Given the description of an element on the screen output the (x, y) to click on. 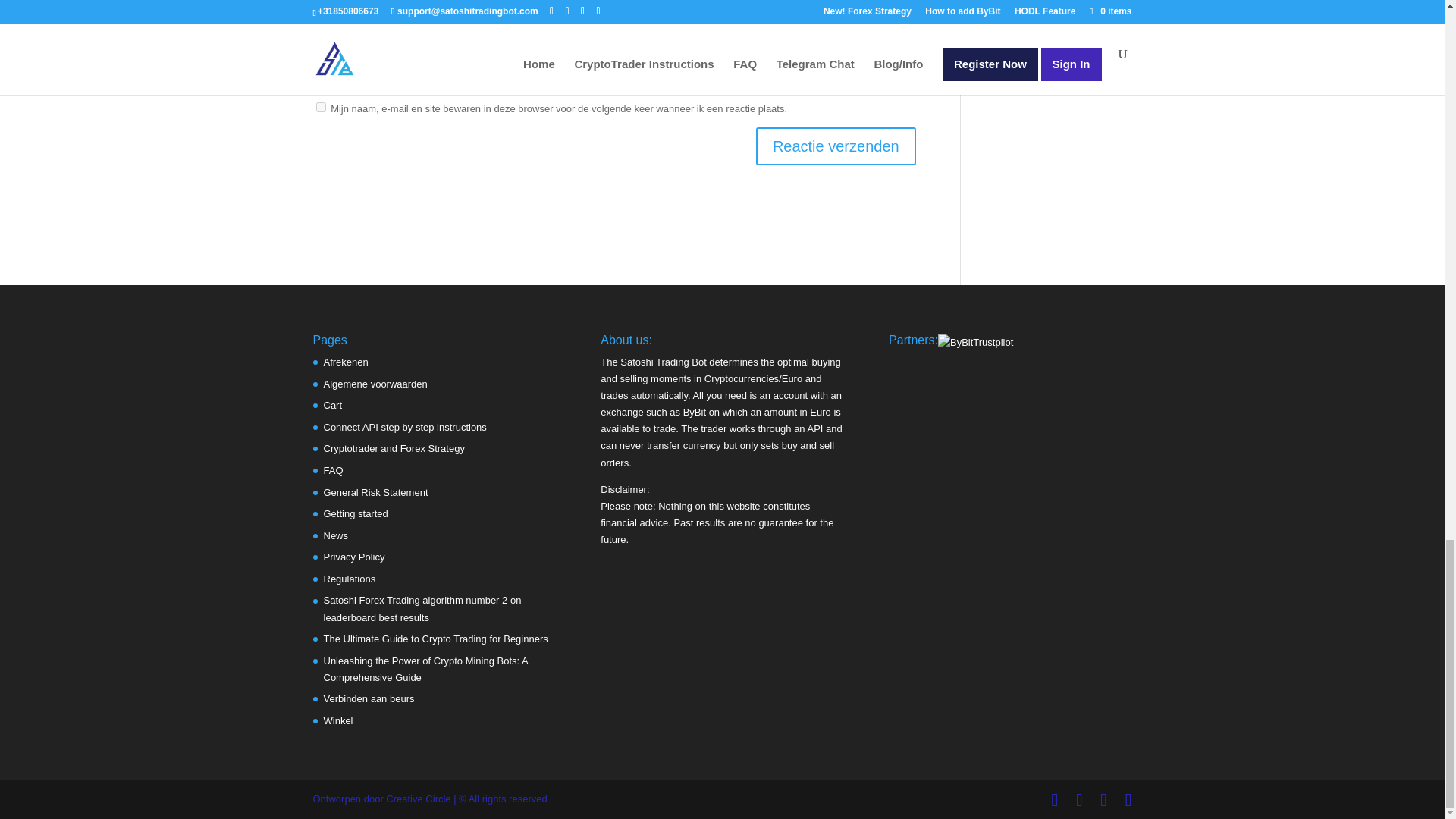
Algemene voorwaarden (374, 383)
yes (319, 107)
Cryptotrader and Forex Strategy (393, 448)
FAQ (332, 470)
Cart (332, 405)
Afrekenen (345, 361)
Reactie verzenden (835, 146)
Connect API step by step instructions (404, 427)
Reactie verzenden (835, 146)
